Given the description of an element on the screen output the (x, y) to click on. 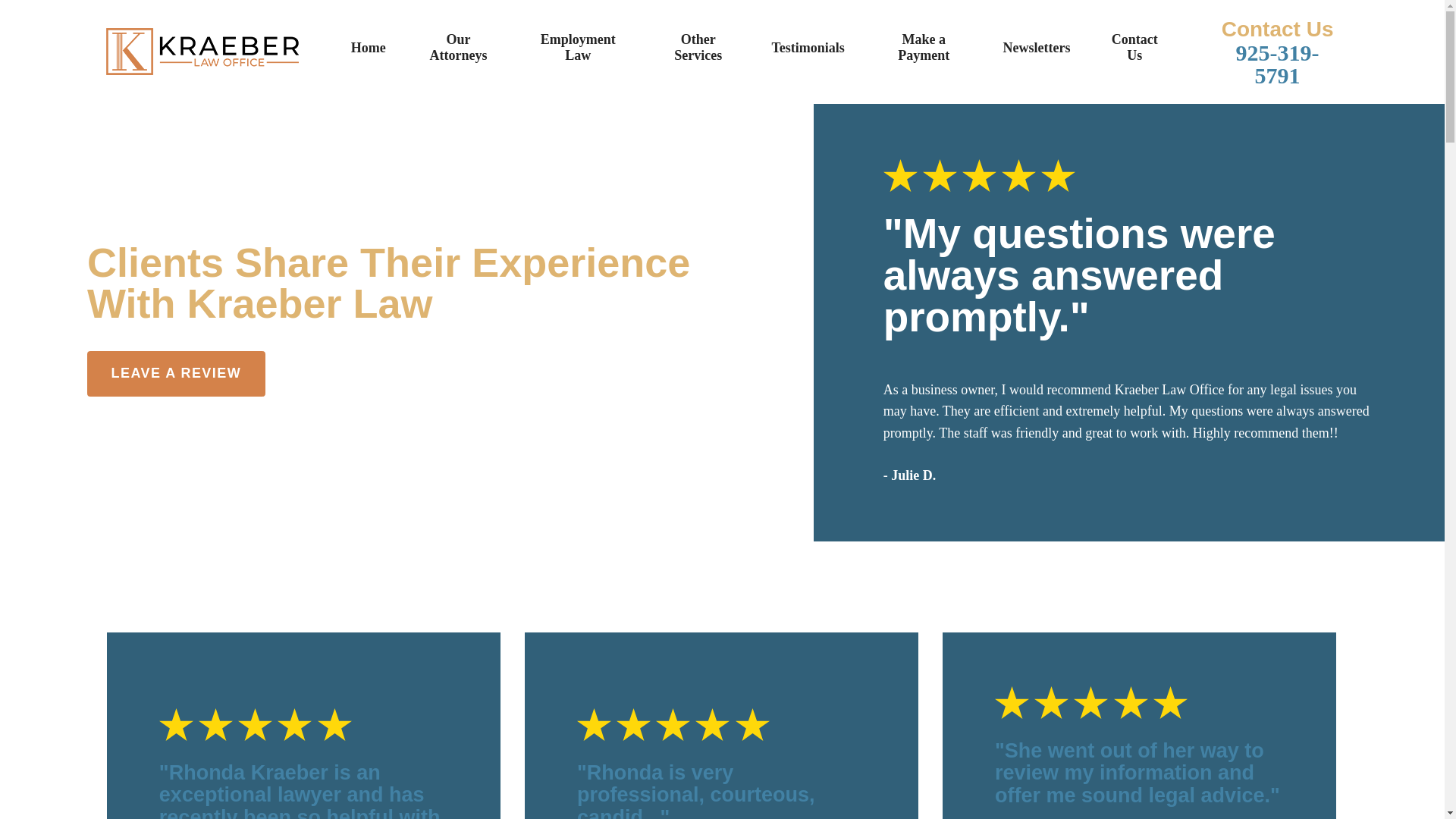
Kraeber Law Office (202, 51)
LEAVE A REVIEW (175, 373)
Our Attorneys (458, 51)
5 Star Rating (303, 723)
Newsletters (1036, 52)
Employment Law (577, 51)
925-319-5791 (1276, 63)
5 Star Rating (1128, 175)
Other Services (698, 51)
Testimonials (807, 52)
